Given the description of an element on the screen output the (x, y) to click on. 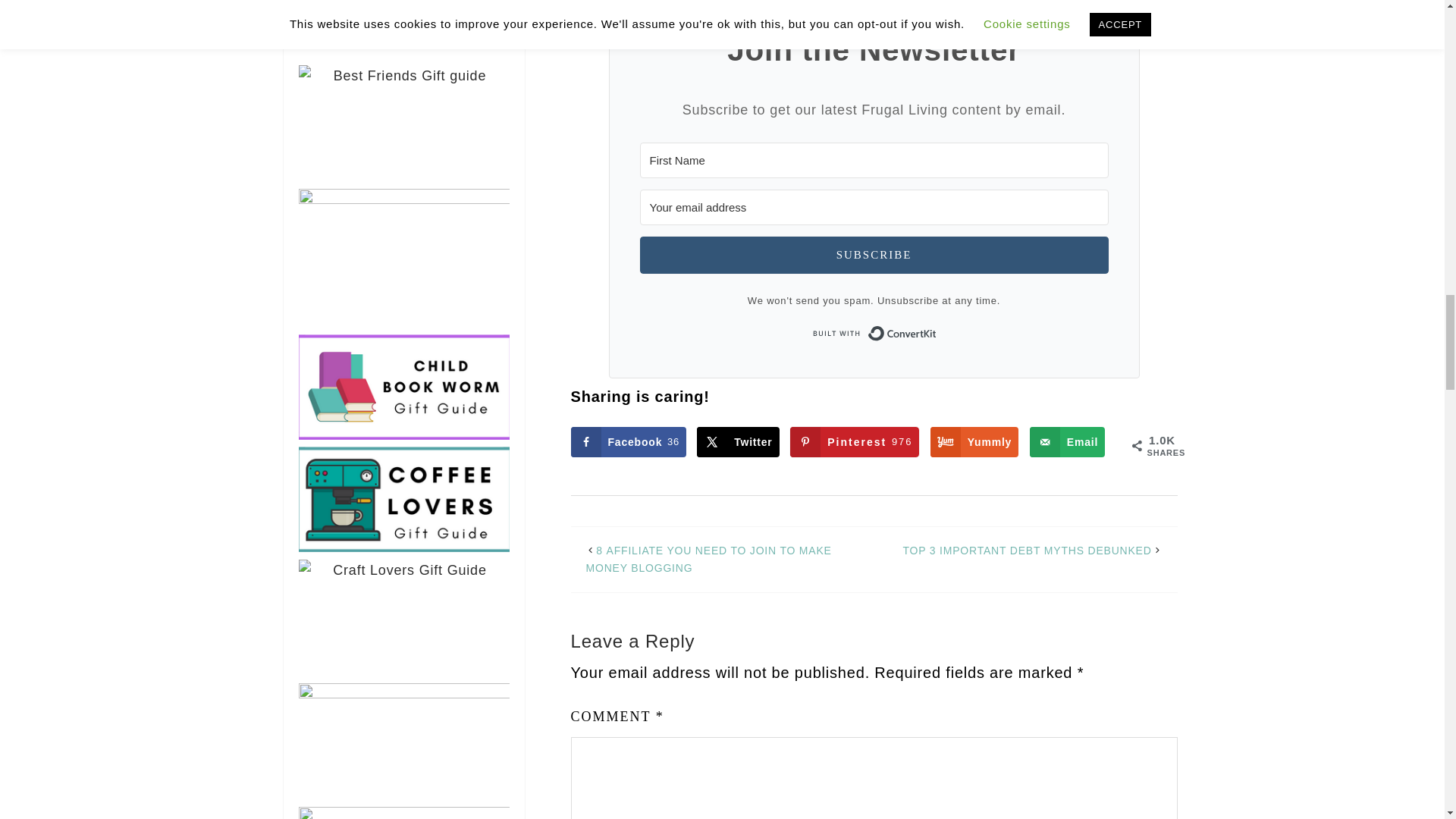
TOP 3 IMPORTANT DEBT MYTHS DEBUNKED (1026, 550)
Built with ConvertKit (627, 441)
Twitter (873, 333)
SUBSCRIBE (854, 441)
Yummly (737, 441)
8 AFFILIATE YOU NEED TO JOIN TO MAKE MONEY BLOGGING (874, 254)
Email (974, 441)
